Given the description of an element on the screen output the (x, y) to click on. 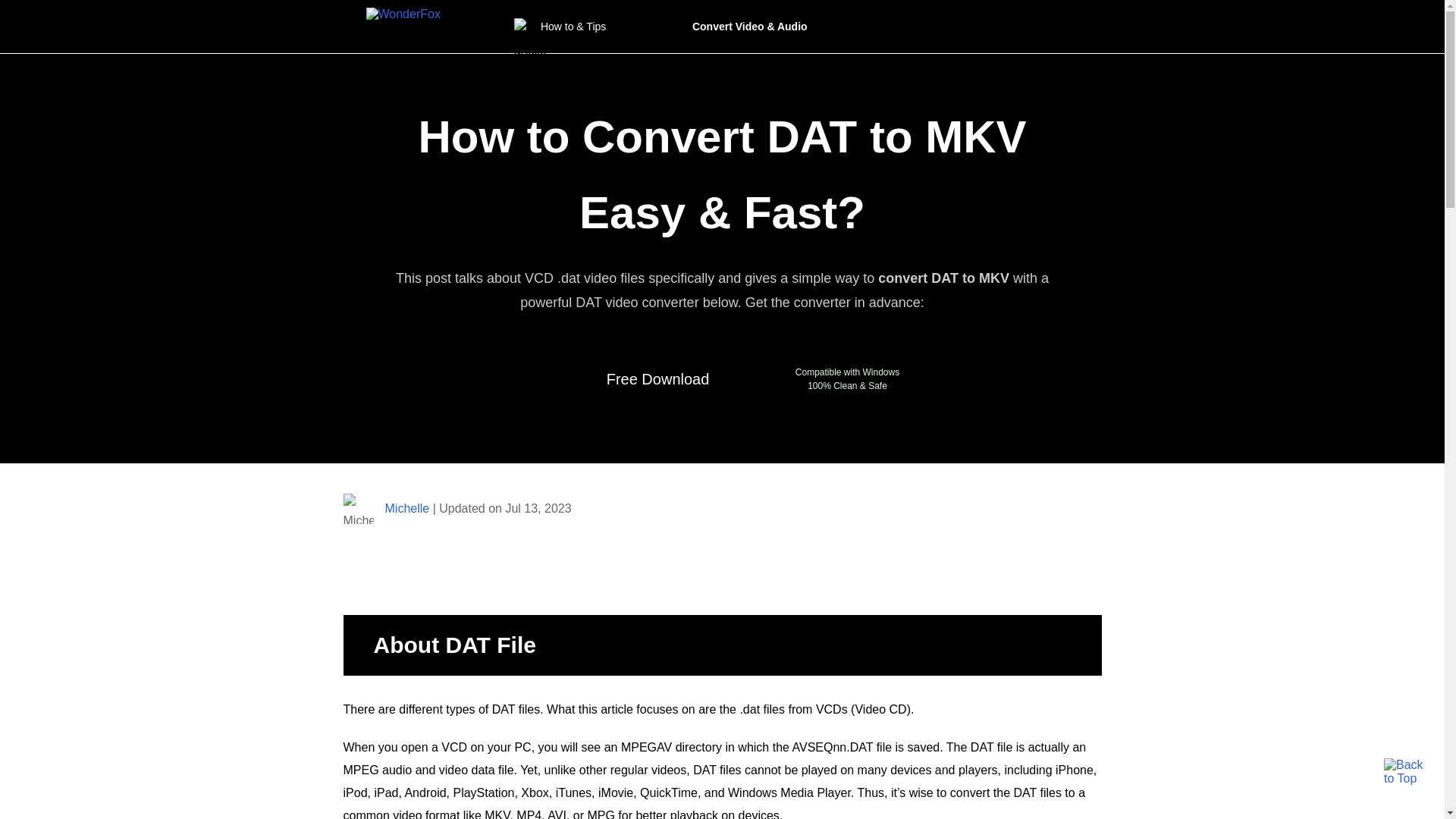
Michelle (407, 508)
